Given the description of an element on the screen output the (x, y) to click on. 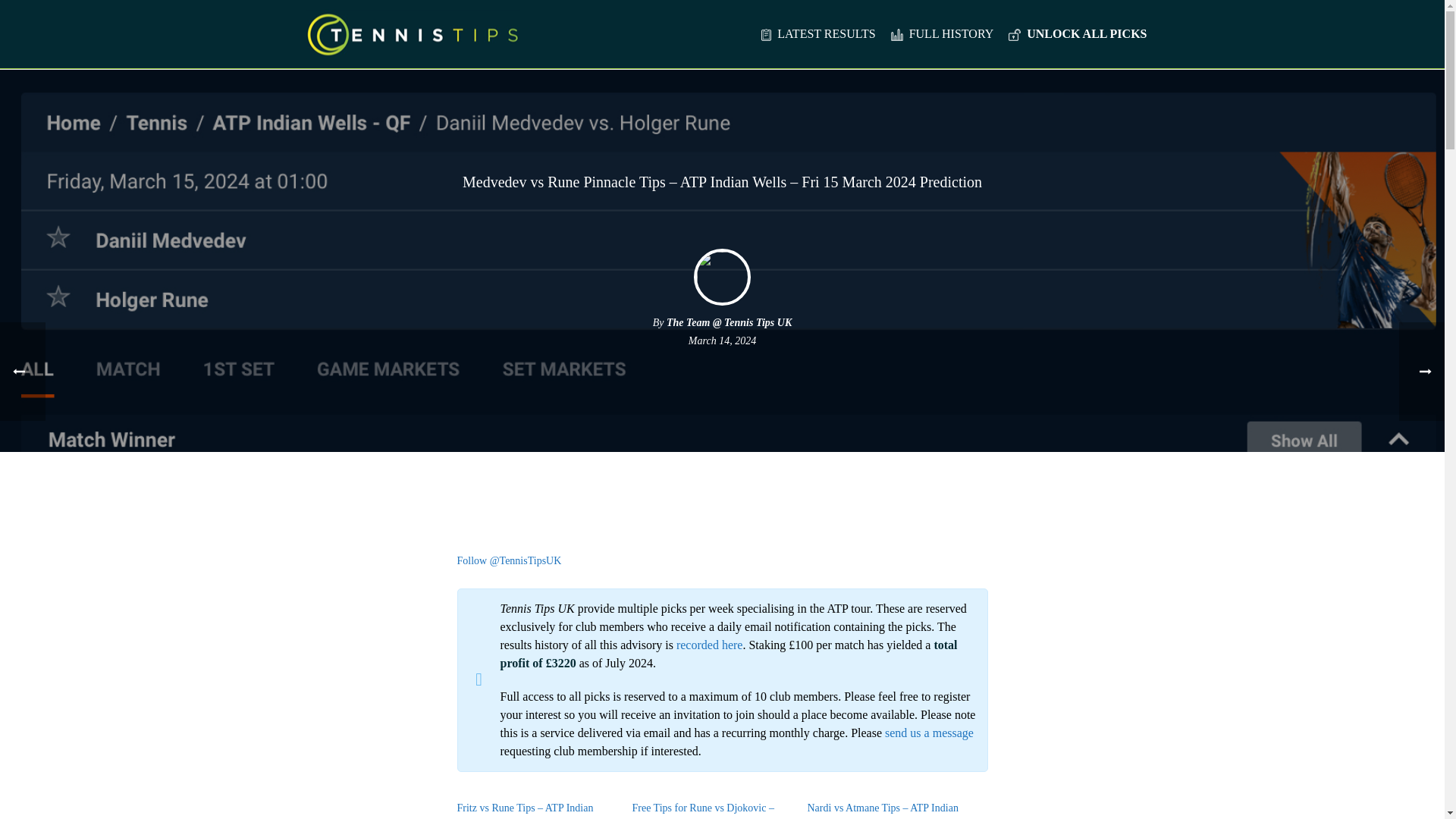
FULL HISTORY (942, 34)
LATEST RESULTS (818, 34)
How to join Tennis Tips UK Club (1077, 34)
UNLOCK ALL PICKS (1077, 34)
Recent winners feed (942, 34)
UNLOCK ALL PICKS (1077, 34)
send us a message (929, 732)
FULL HISTORY (942, 34)
LATEST RESULTS (818, 34)
Free ATP tennis betting tips for today (818, 34)
March 14, 2024 (721, 340)
recorded here (709, 644)
